Given the description of an element on the screen output the (x, y) to click on. 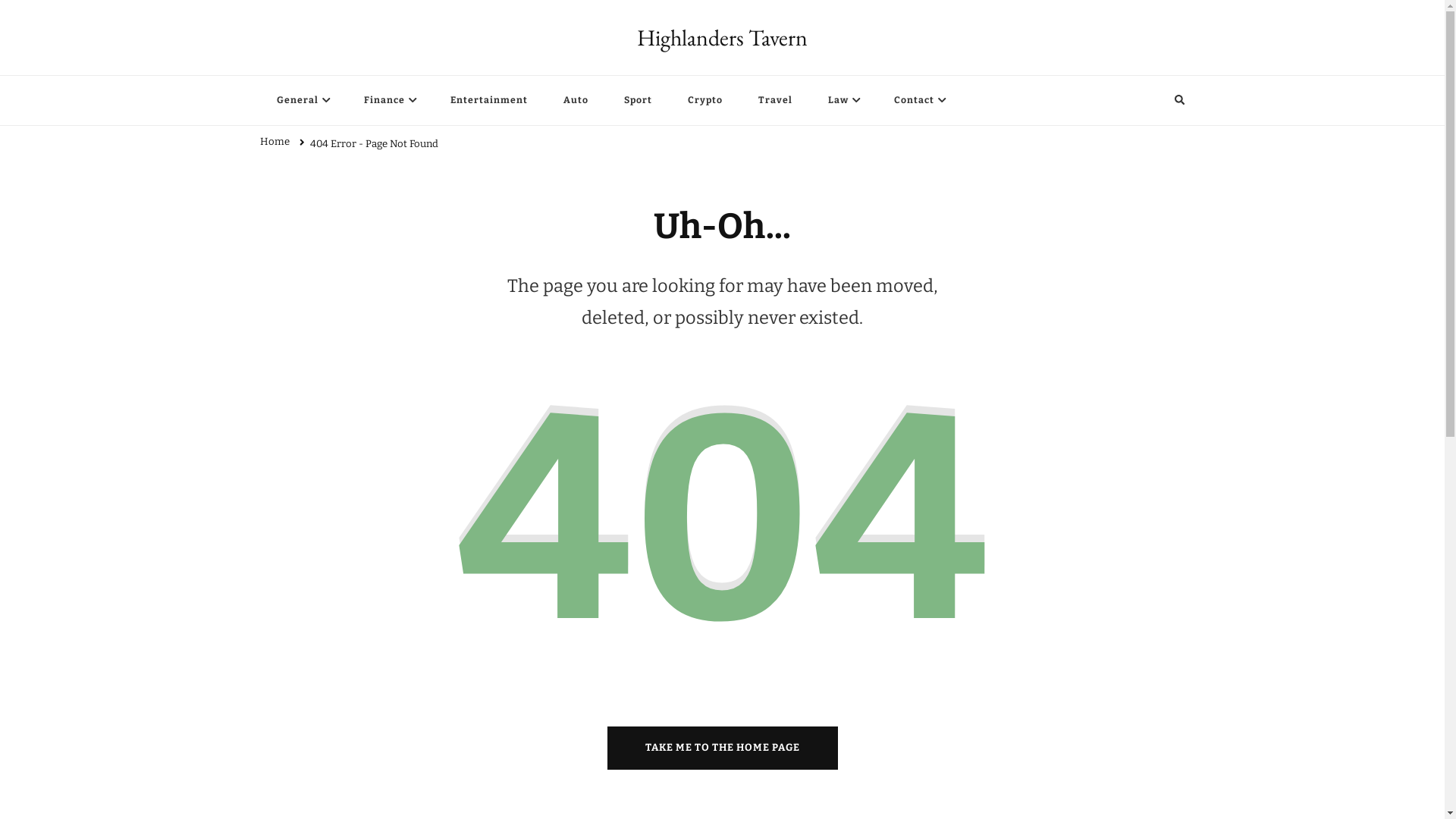
Auto Element type: text (575, 100)
Crypto Element type: text (704, 100)
TAKE ME TO THE HOME PAGE Element type: text (721, 747)
Home Element type: text (273, 144)
Contact Element type: text (918, 100)
Law Element type: text (843, 100)
Search Element type: text (1151, 100)
Travel Element type: text (775, 100)
Entertainment Element type: text (488, 100)
Highlanders Tavern Element type: text (722, 37)
Sport Element type: text (637, 100)
Finance Element type: text (389, 100)
General Element type: text (301, 100)
